Given the description of an element on the screen output the (x, y) to click on. 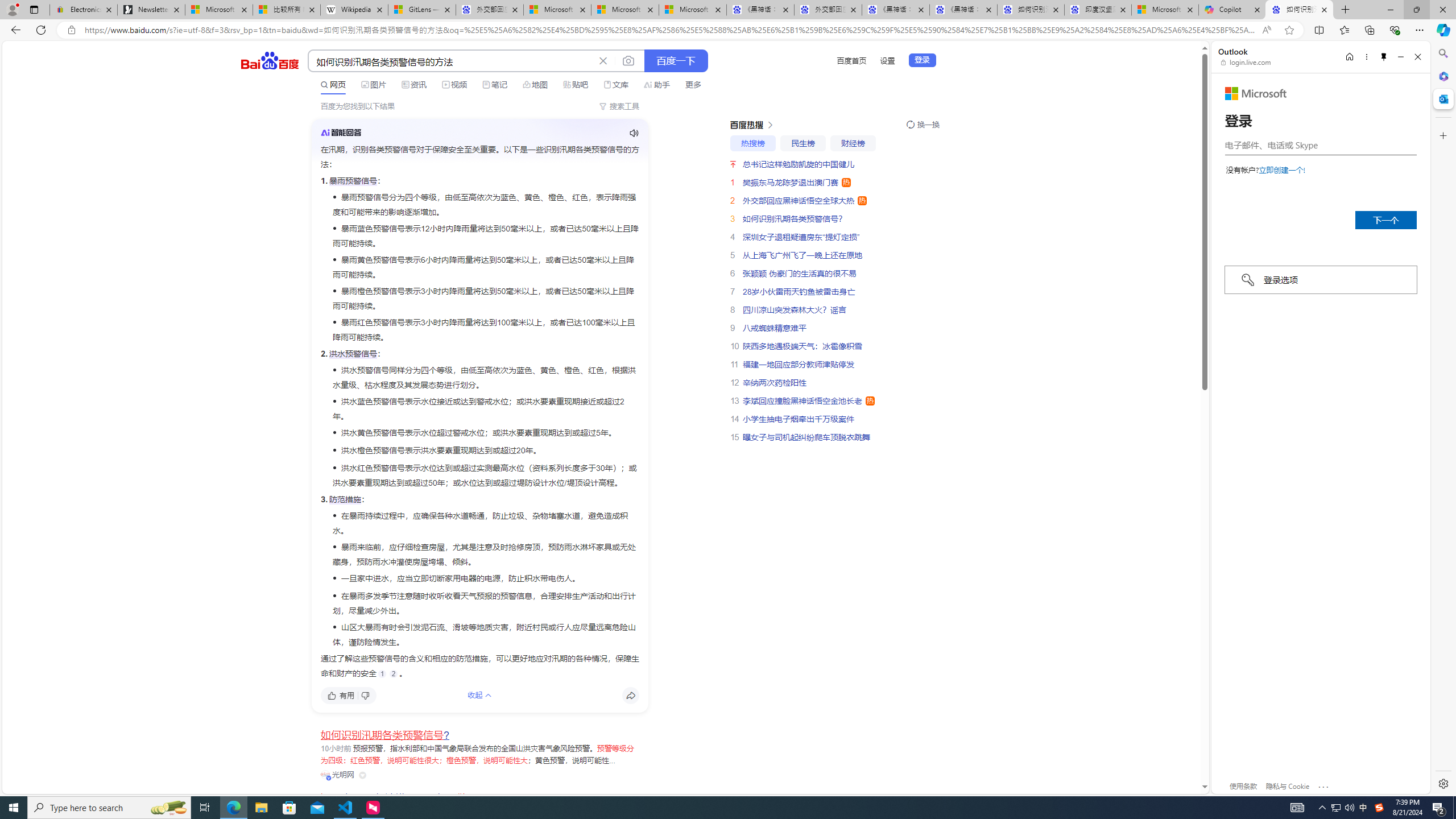
Electronics, Cars, Fashion, Collectibles & More | eBay (83, 9)
Class: sc-audio-svg _pause-icon_13ucw_87 (633, 132)
